Given the description of an element on the screen output the (x, y) to click on. 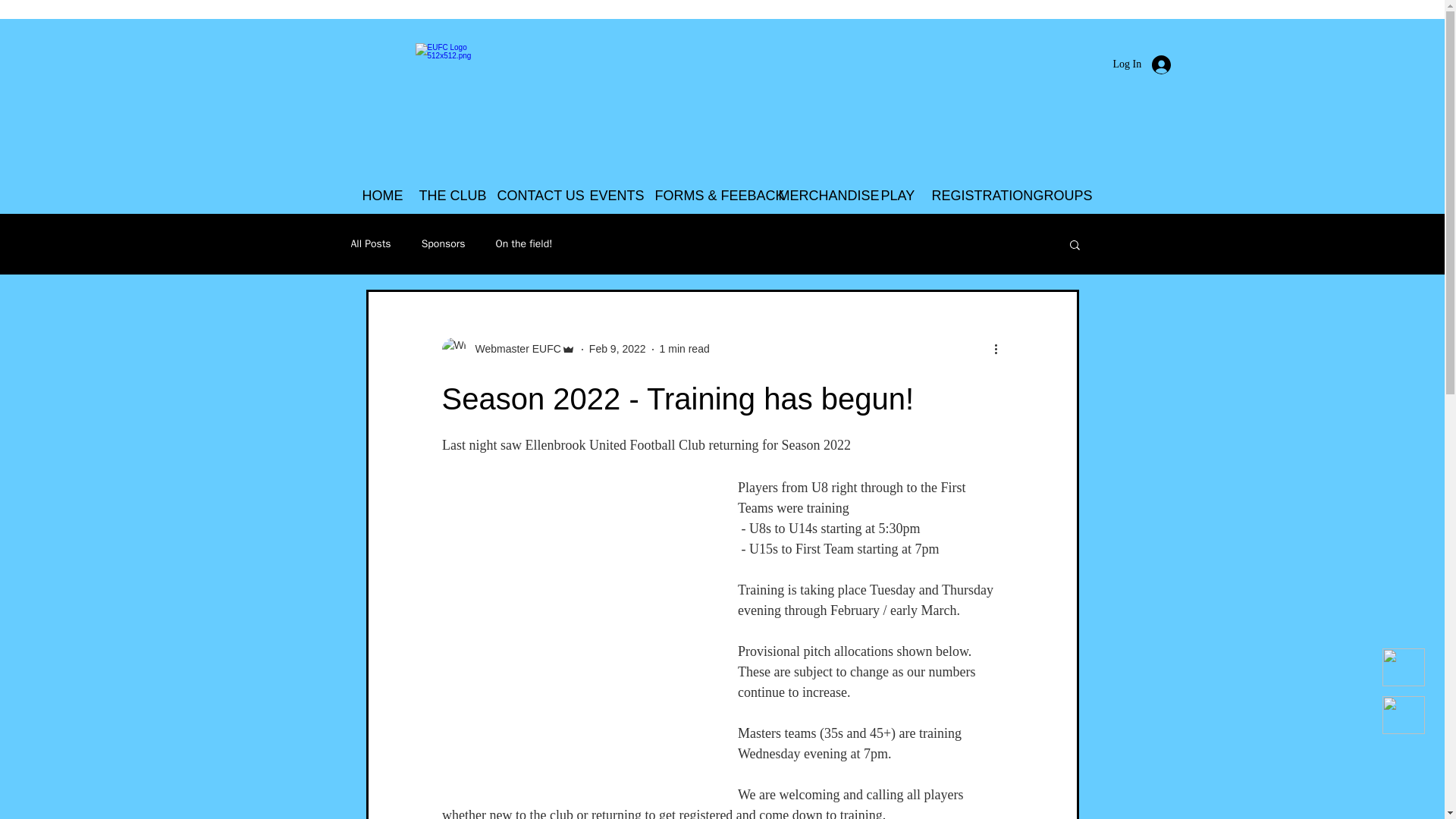
HOME (378, 195)
On the field! (524, 243)
All Posts (370, 243)
Webmaster EUFC (512, 349)
Facebook EUFC (1403, 667)
GROUPS (1056, 195)
Feb 9, 2022 (617, 348)
Sponsors (443, 243)
1 min read (684, 348)
PLAY (894, 195)
